Given the description of an element on the screen output the (x, y) to click on. 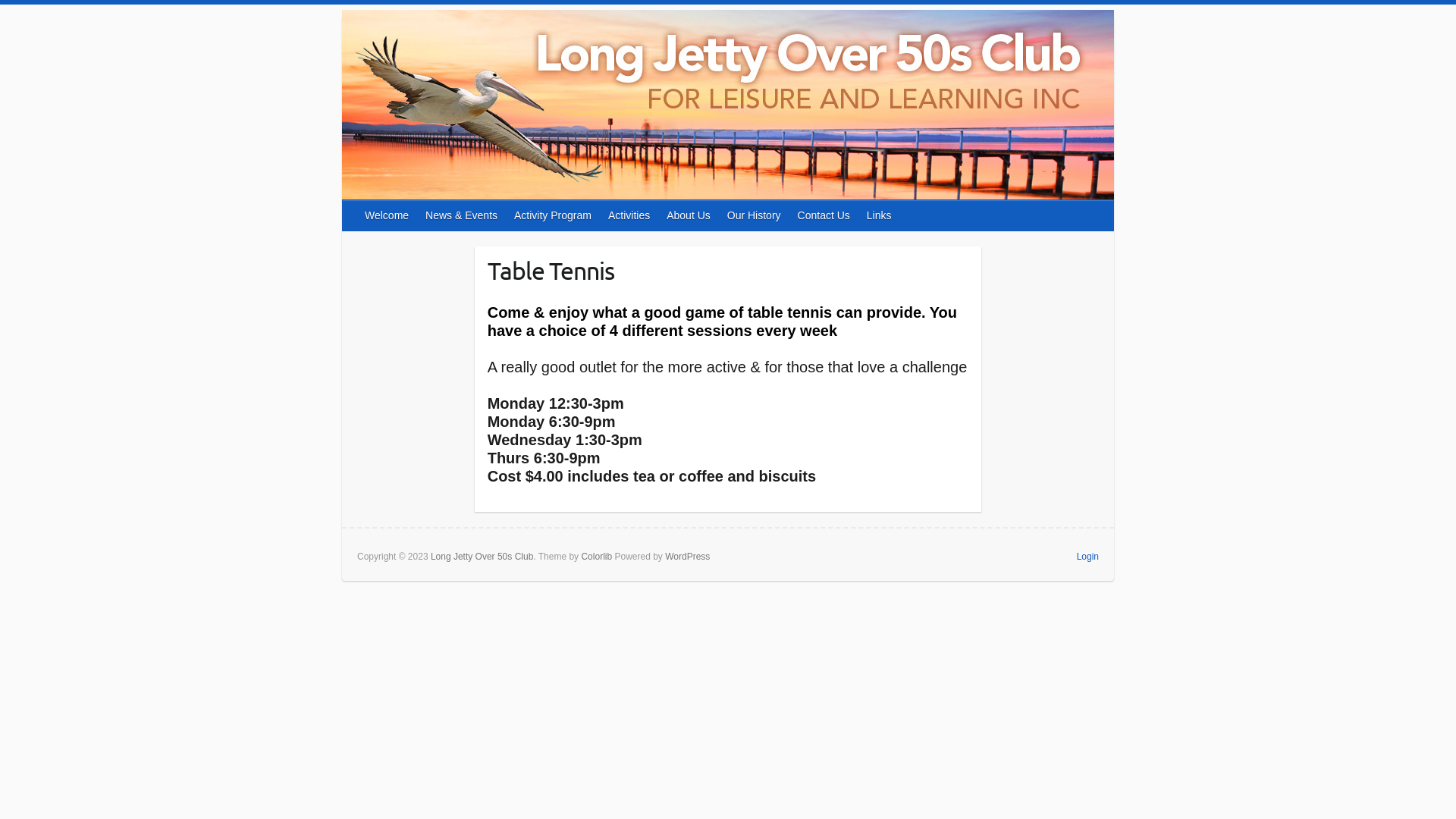
Welcome Element type: text (387, 215)
Links Element type: text (879, 215)
Contact Us Element type: text (824, 215)
Long Jetty Over 50s Club Element type: text (481, 556)
Colorlib Element type: text (595, 556)
Login Element type: text (1087, 556)
Activity Program Element type: text (553, 215)
WordPress Element type: text (687, 556)
Our History Element type: text (754, 215)
News & Events Element type: text (461, 215)
Activities Element type: text (629, 215)
About Us Element type: text (688, 215)
